Given the description of an element on the screen output the (x, y) to click on. 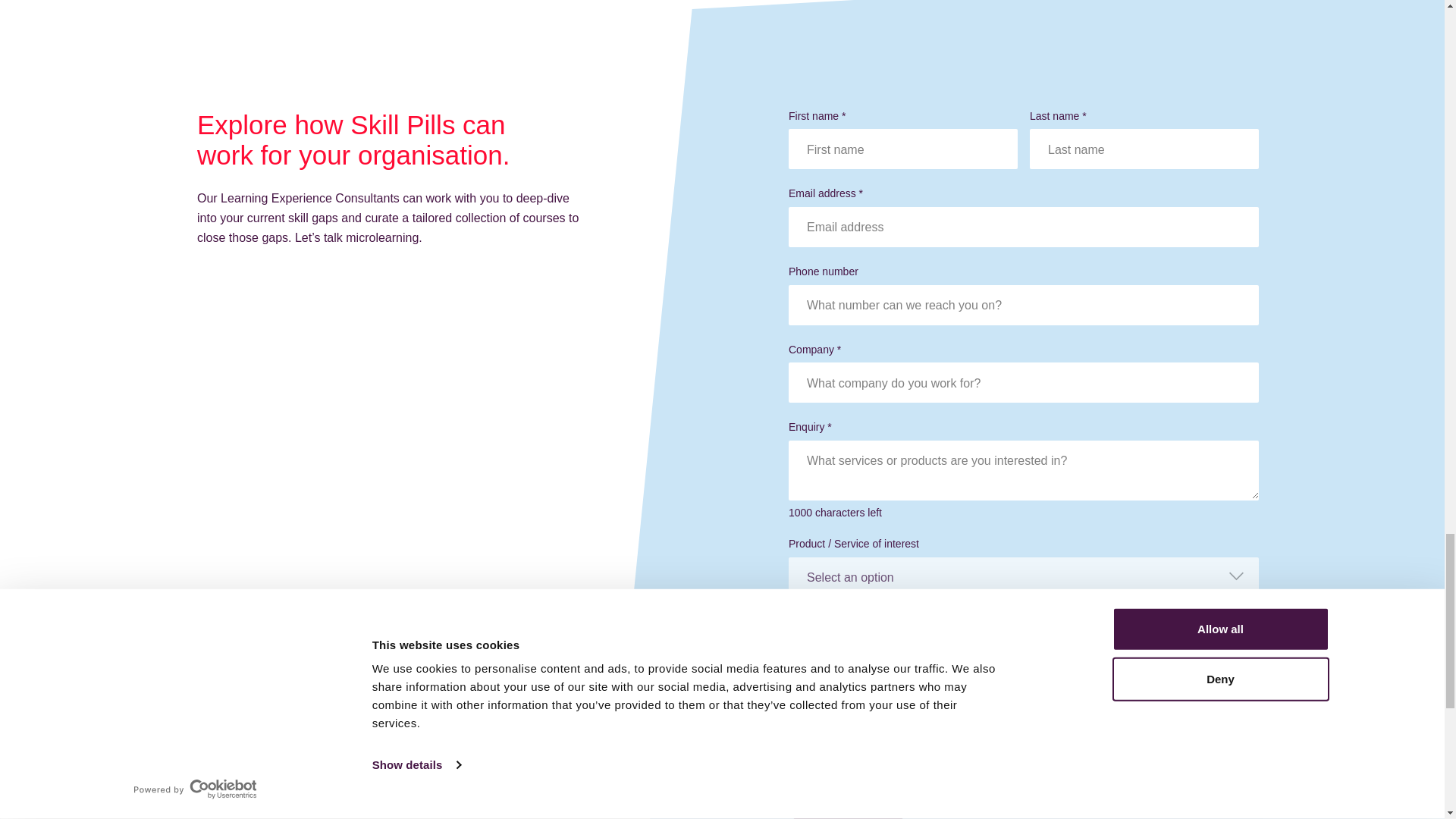
1 (805, 702)
1 (805, 740)
